Given the description of an element on the screen output the (x, y) to click on. 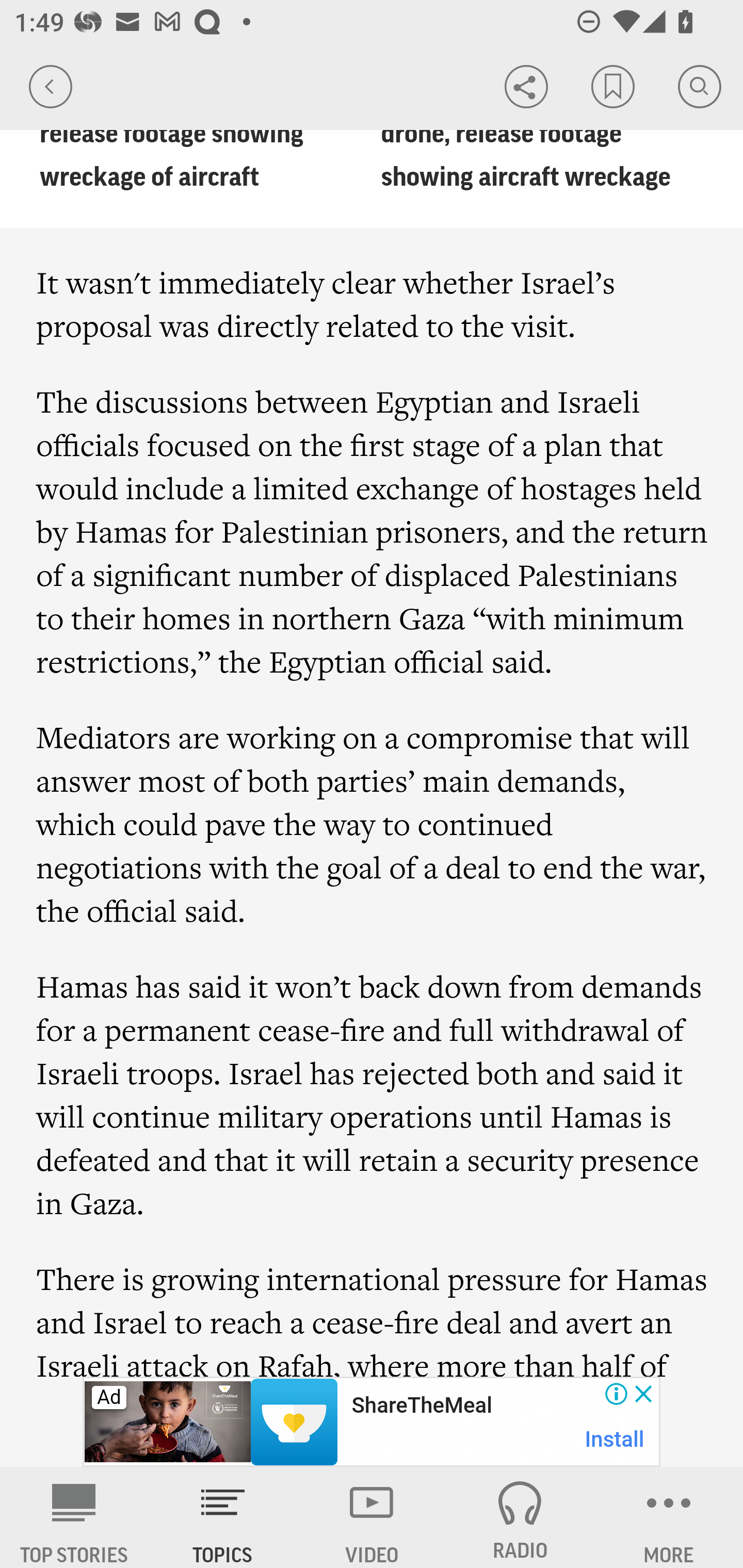
ShareTheMeal (420, 1405)
Install (614, 1438)
AP News TOP STORIES (74, 1517)
TOPICS (222, 1517)
VIDEO (371, 1517)
RADIO (519, 1517)
MORE (668, 1517)
